Given the description of an element on the screen output the (x, y) to click on. 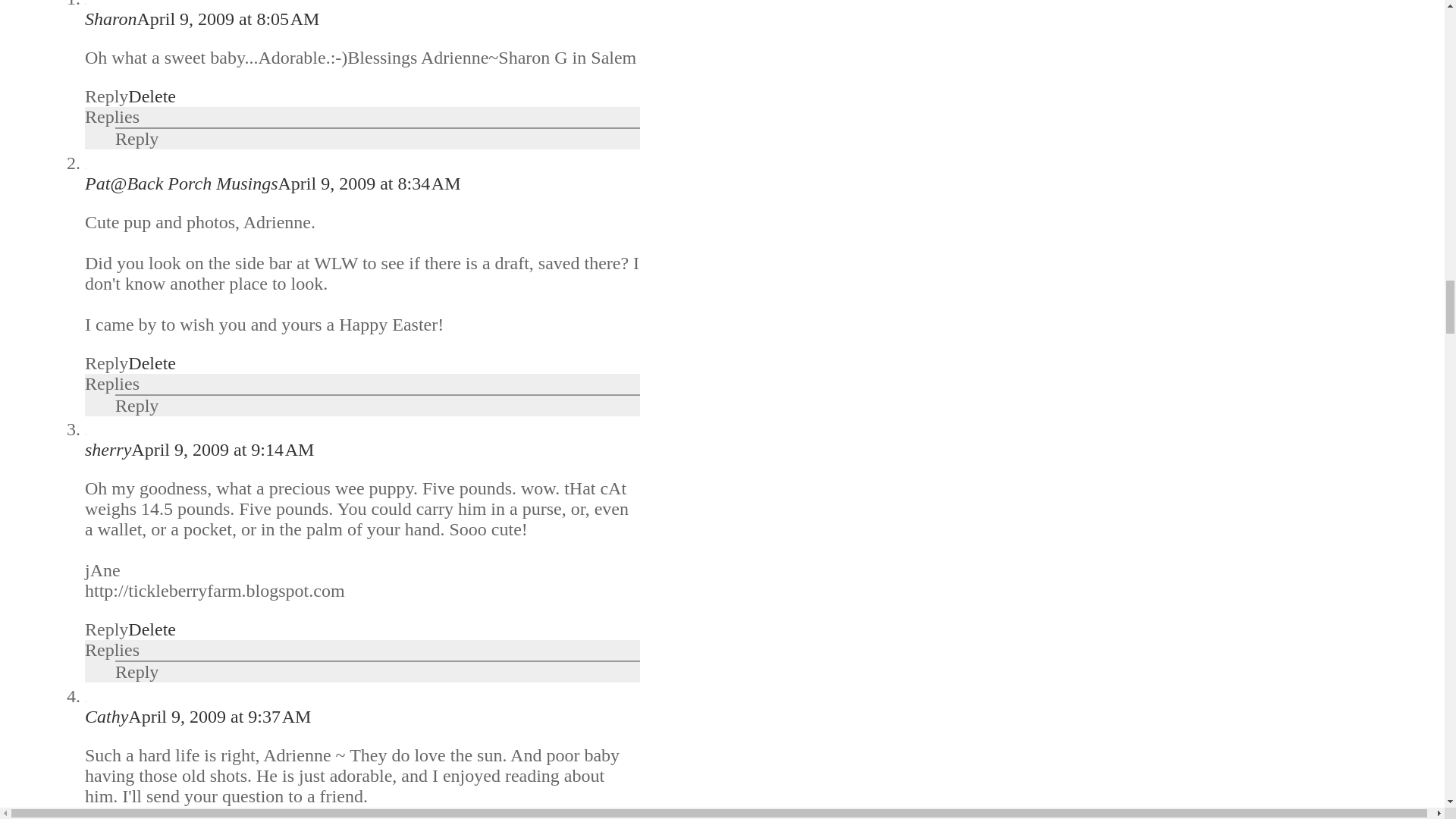
Reply (136, 671)
sherry (107, 449)
Replies (111, 649)
Reply (106, 629)
Reply (106, 362)
Delete (152, 362)
Reply (136, 405)
Reply (106, 96)
Replies (111, 383)
Replies (111, 116)
Delete (152, 629)
Reply (136, 138)
Delete (152, 96)
